Given the description of an element on the screen output the (x, y) to click on. 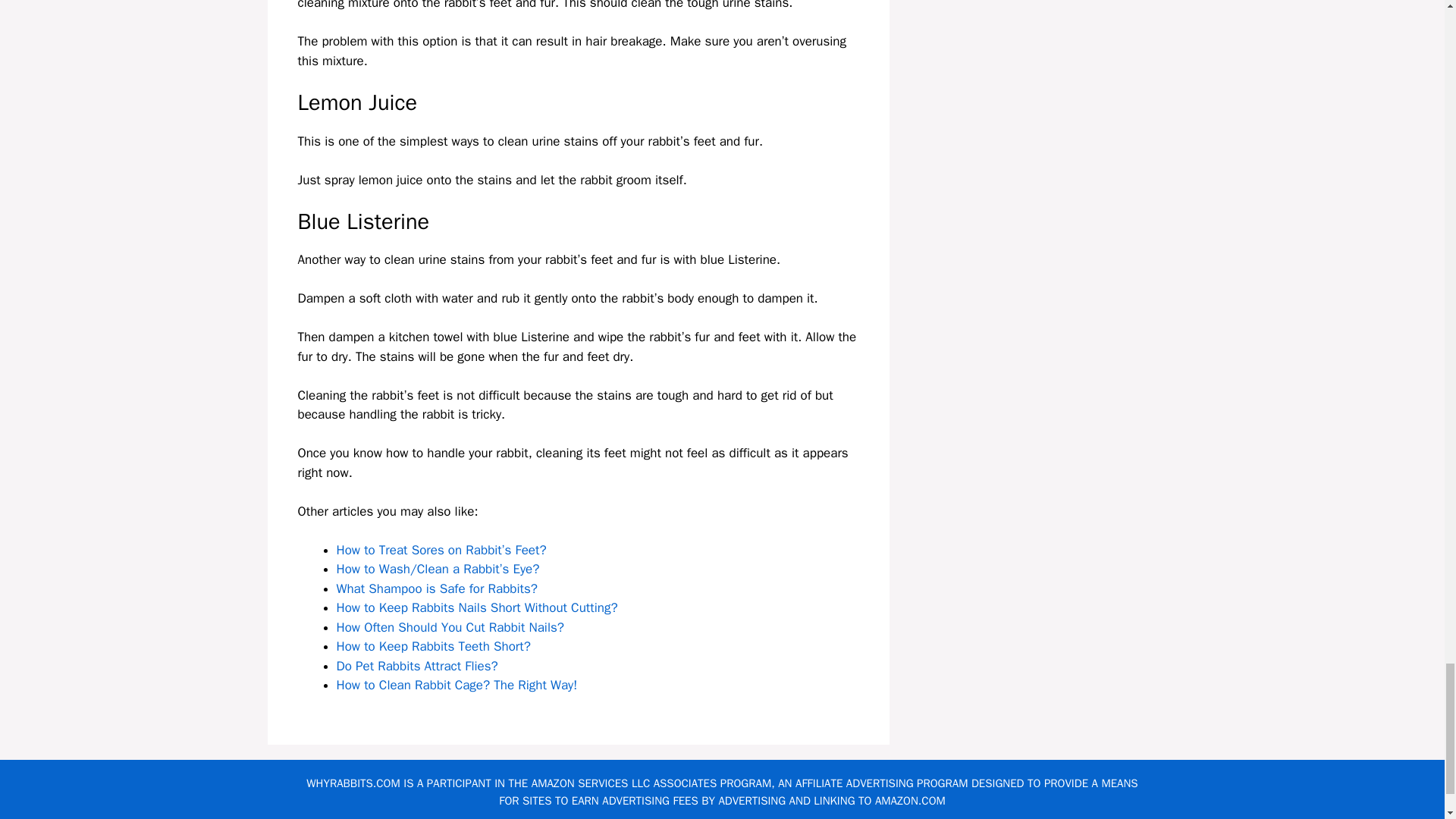
How to Keep Rabbits Teeth Short? (433, 646)
How to Clean Rabbit Cage? The Right Way! (457, 684)
How to Keep Rabbits Nails Short Without Cutting? (476, 607)
Do Pet Rabbits Attract Flies? (416, 666)
How Often Should You Cut Rabbit Nails? (450, 627)
What Shampoo is Safe for Rabbits? (437, 588)
